Given the description of an element on the screen output the (x, y) to click on. 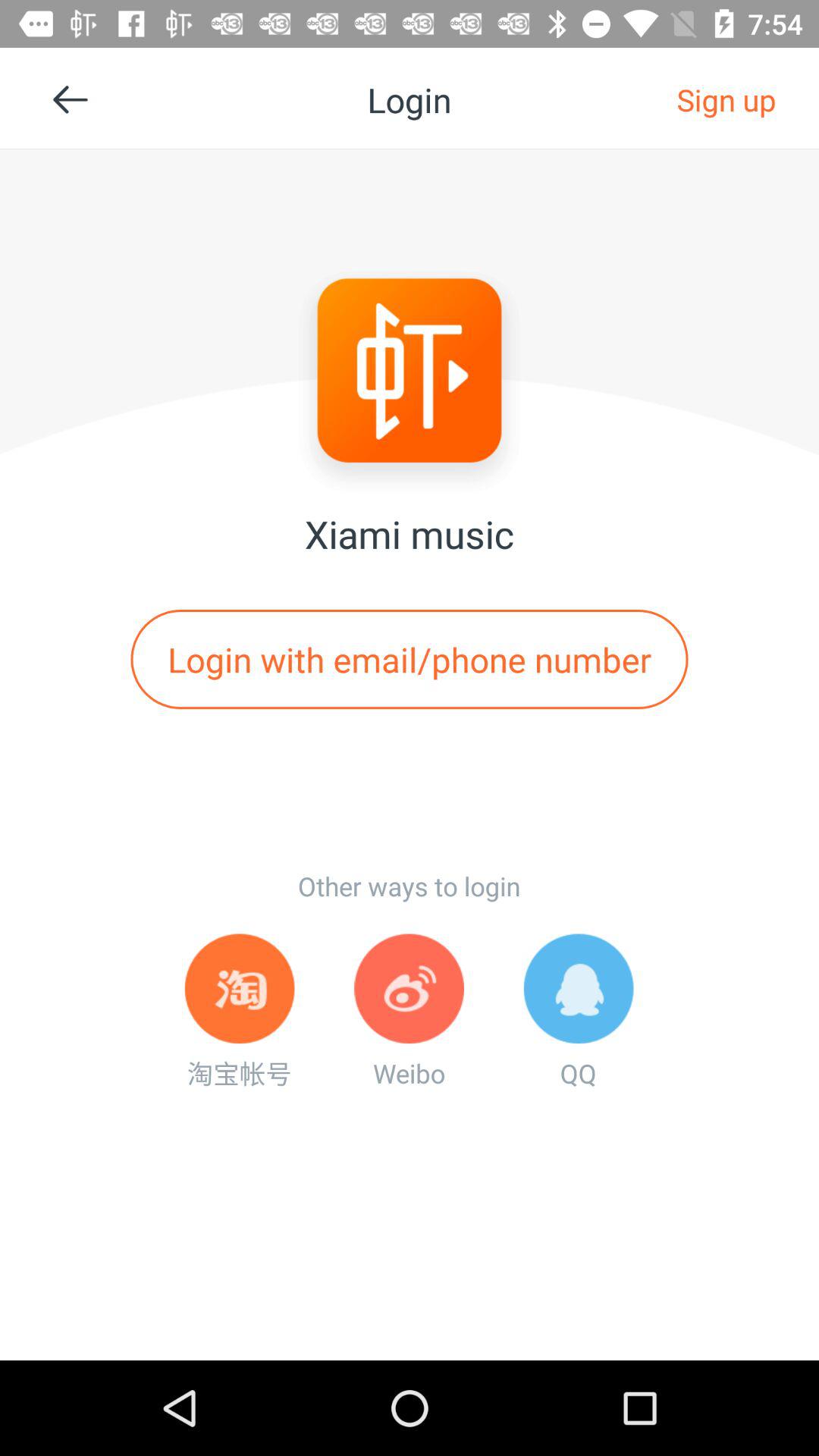
choose the item next to the weibo item (239, 1011)
